Given the description of an element on the screen output the (x, y) to click on. 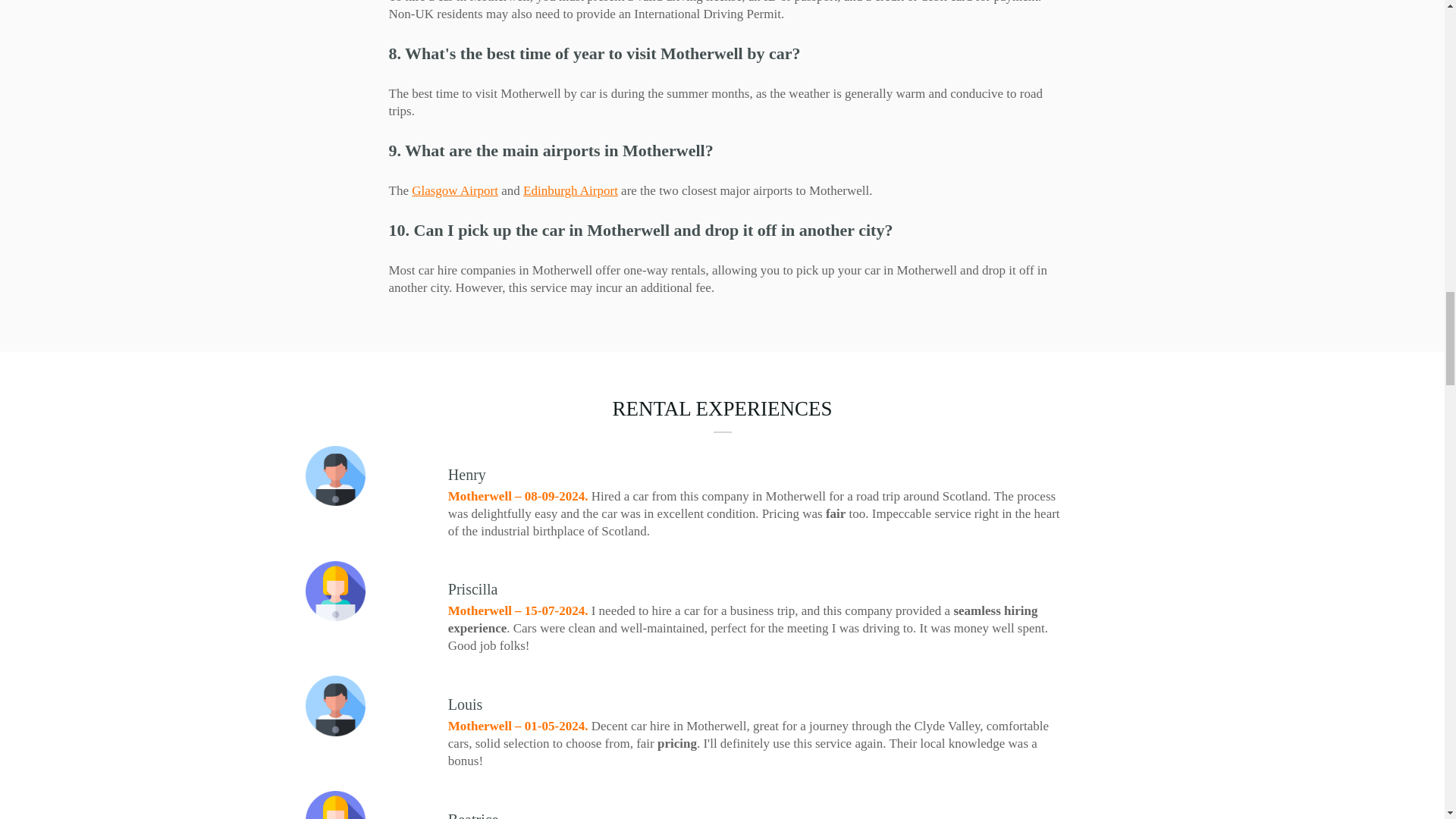
Glasgow Airport (454, 190)
Edinburgh Airport (569, 190)
